Given the description of an element on the screen output the (x, y) to click on. 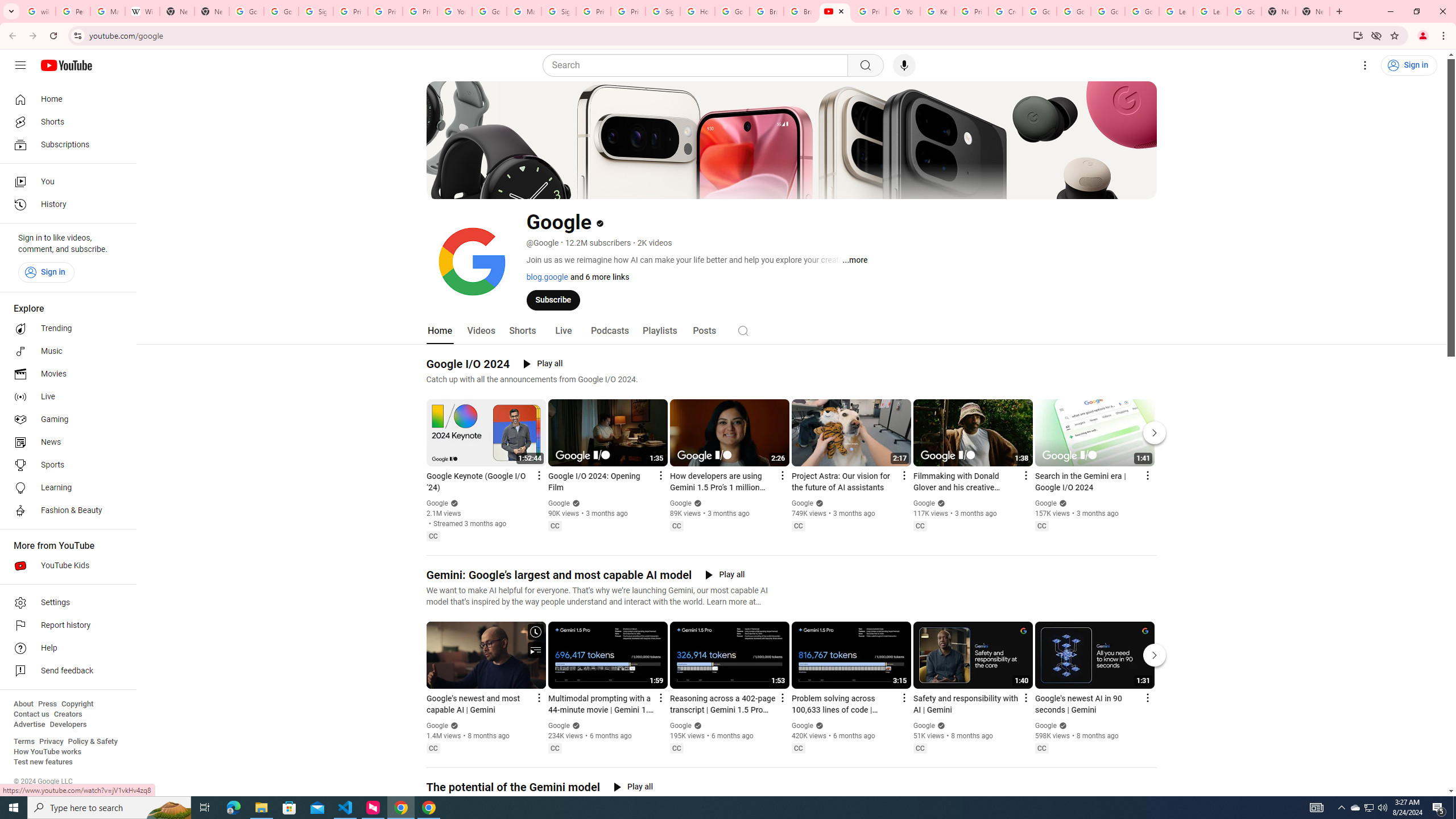
The potential of the Gemini model (512, 786)
blog.google (546, 276)
Videos (481, 330)
Brand Resource Center (766, 11)
Google I/O 2024 (467, 363)
Verified (1061, 725)
Personalization & Google Search results - Google Search Help (73, 11)
History (64, 204)
